Given the description of an element on the screen output the (x, y) to click on. 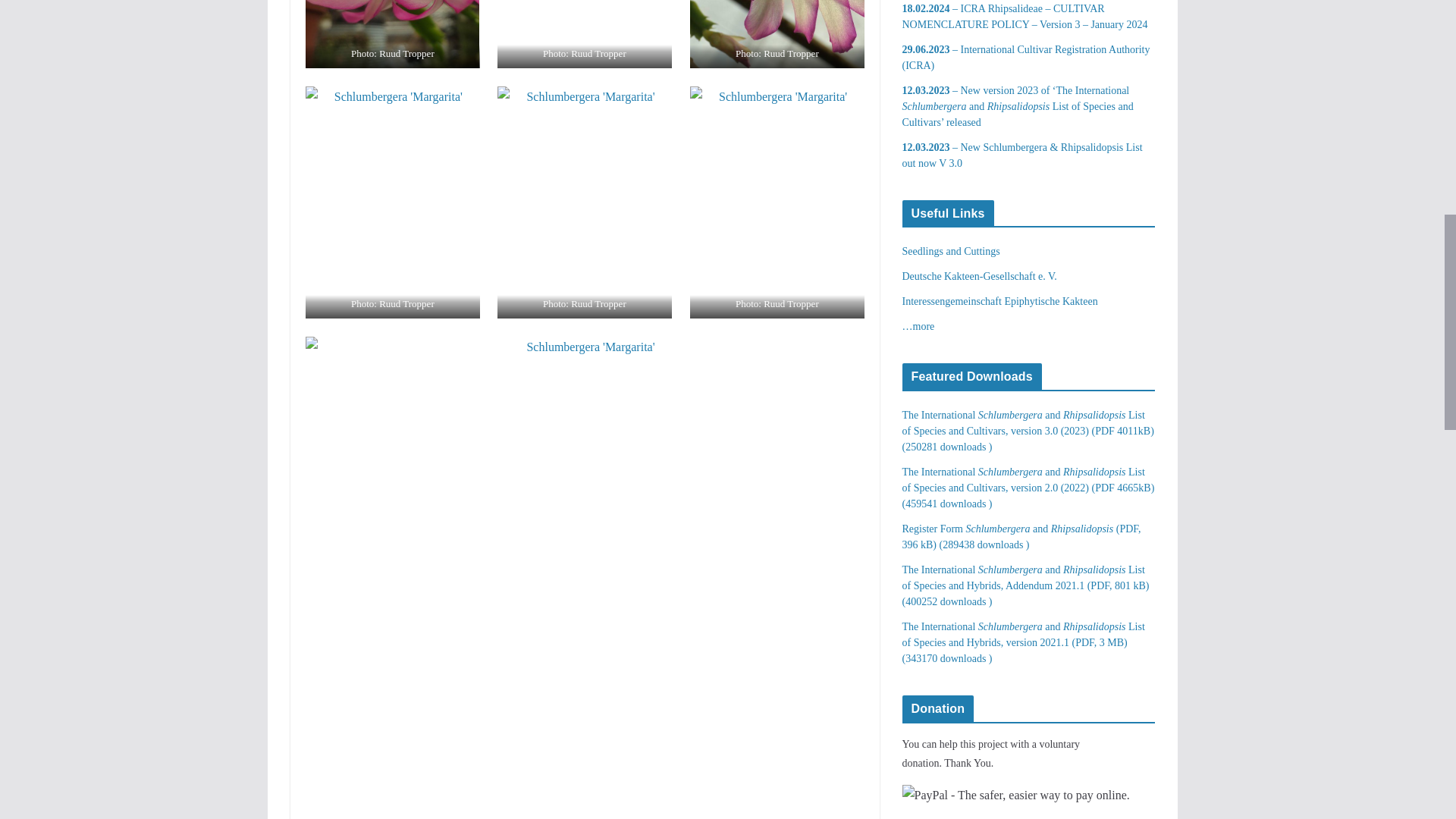
Version 2022.5 (1021, 536)
